Given the description of an element on the screen output the (x, y) to click on. 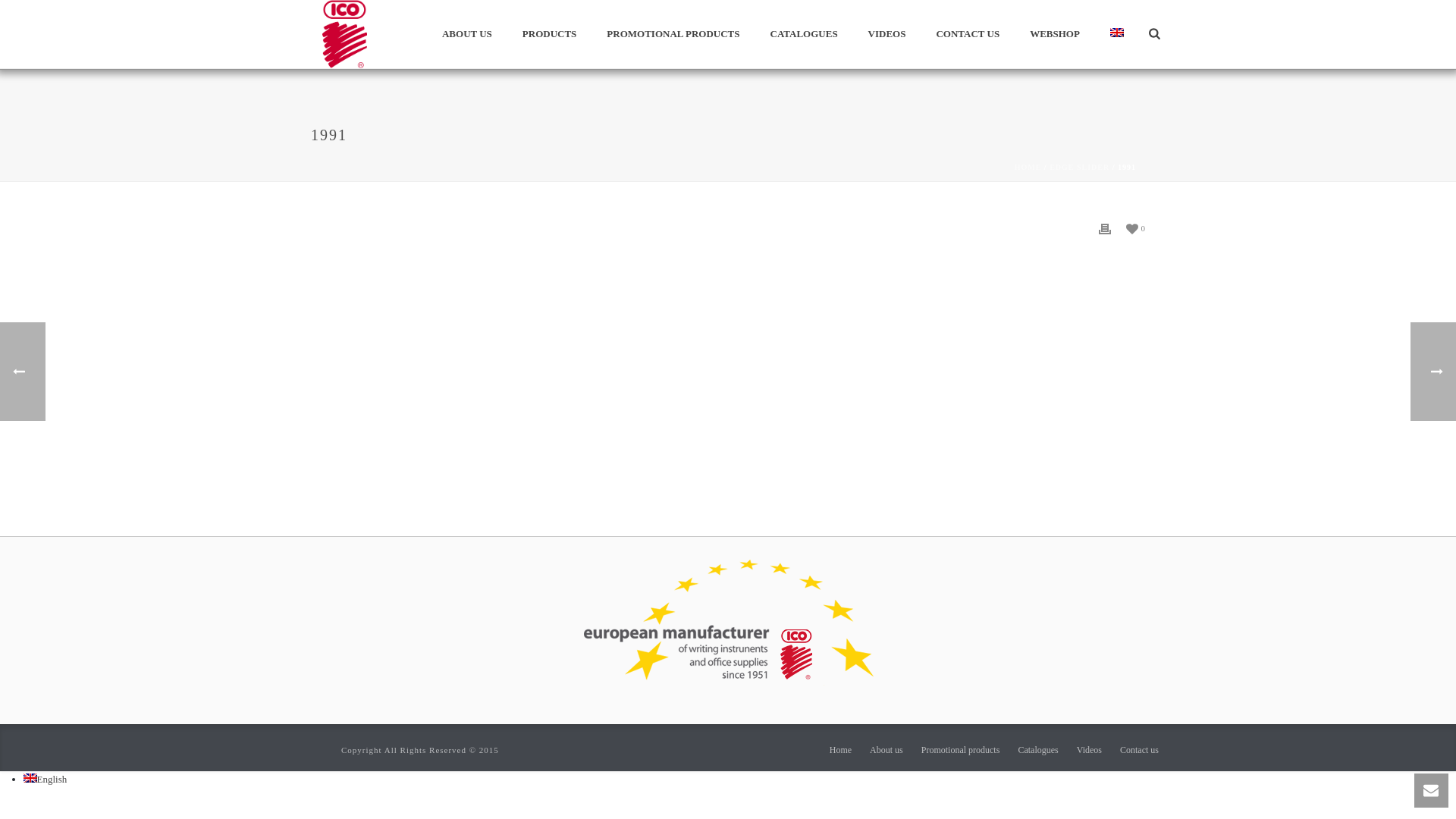
CATALOGUES (804, 34)
CONTACT US (967, 34)
English (30, 777)
English (1116, 31)
VIDEOS (887, 34)
PRODUCTS (549, 34)
ABOUT US (466, 34)
ABOUT US (466, 34)
PROMOTIONAL PRODUCTS (672, 34)
WEBSHOP (1054, 34)
WEBSHOP (1054, 34)
CONTACT US (967, 34)
VIDEOS (887, 34)
CATALOGUES (804, 34)
PRODUCTS (549, 34)
